Given the description of an element on the screen output the (x, y) to click on. 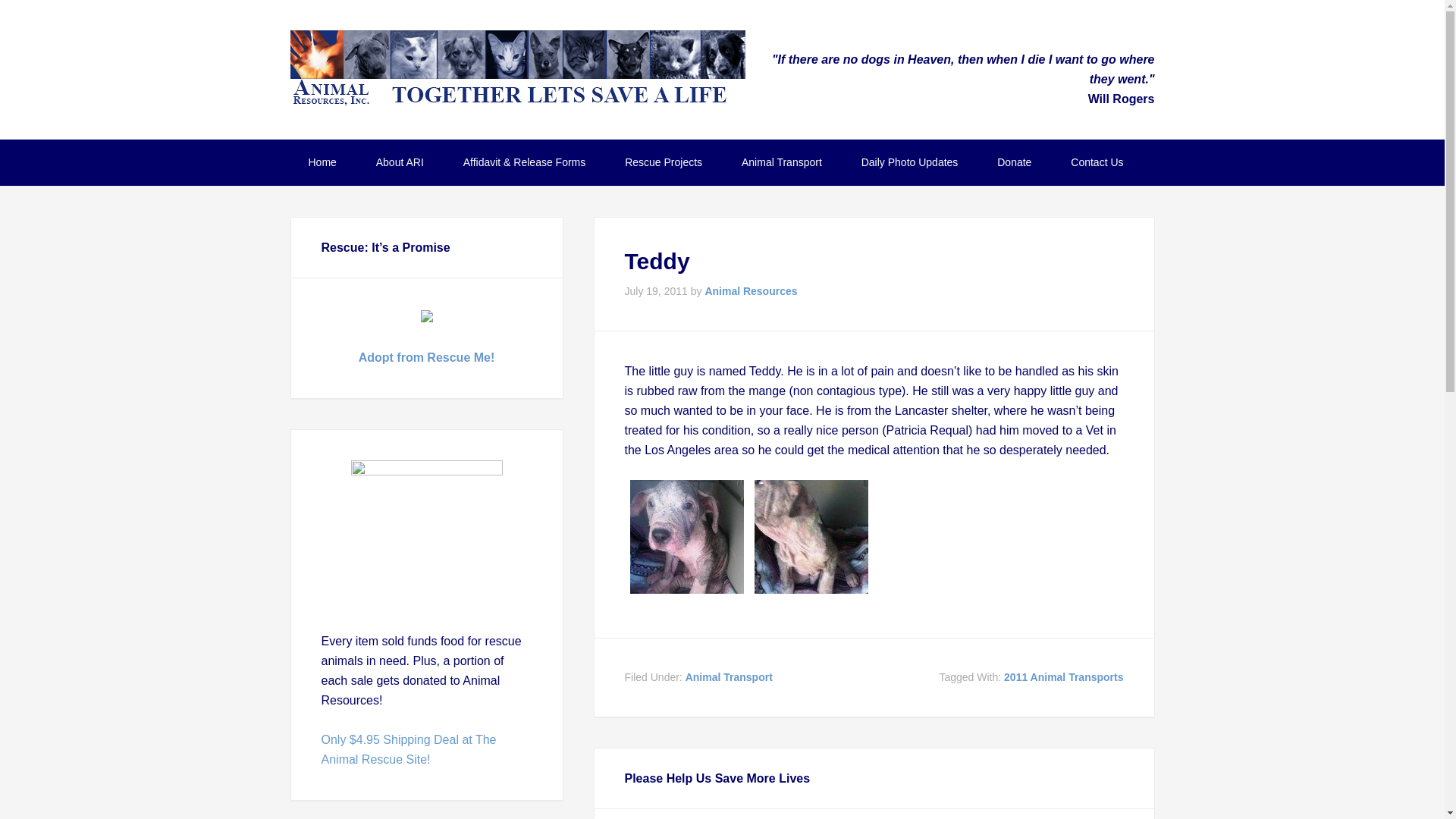
Donate (1013, 162)
Contact Us (1096, 162)
Animal Transport (781, 162)
Animal Resources (750, 291)
Daily Photo Updates (909, 162)
Animal Transport (729, 676)
Animal Resources, Inc. (516, 68)
Adopt from Rescue Me! (426, 357)
2011 Animal Transports (1063, 676)
Home (321, 162)
About ARI (400, 162)
Rescue Projects (663, 162)
